Given the description of an element on the screen output the (x, y) to click on. 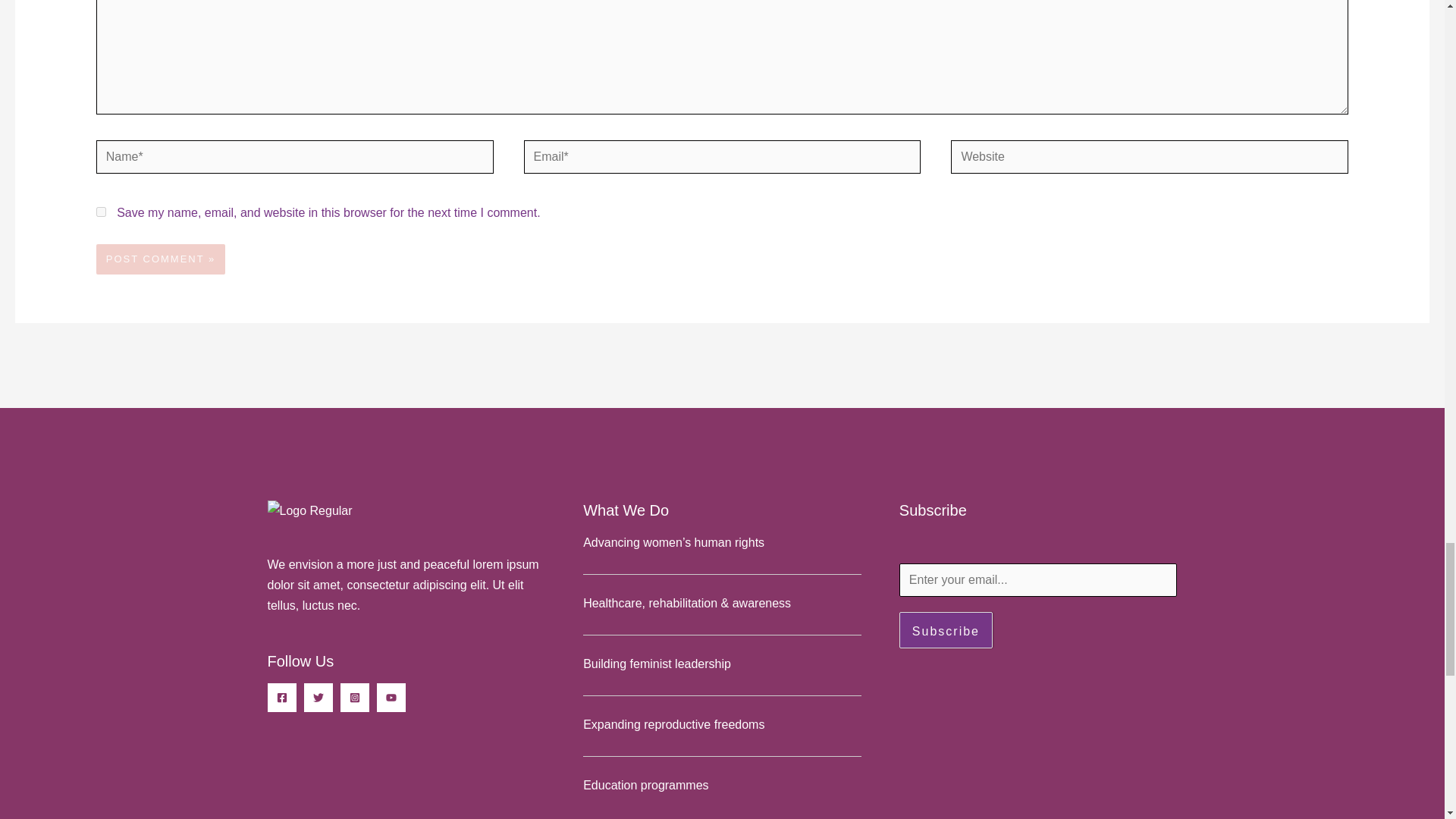
Subscribe (945, 629)
yes (101, 212)
